Given the description of an element on the screen output the (x, y) to click on. 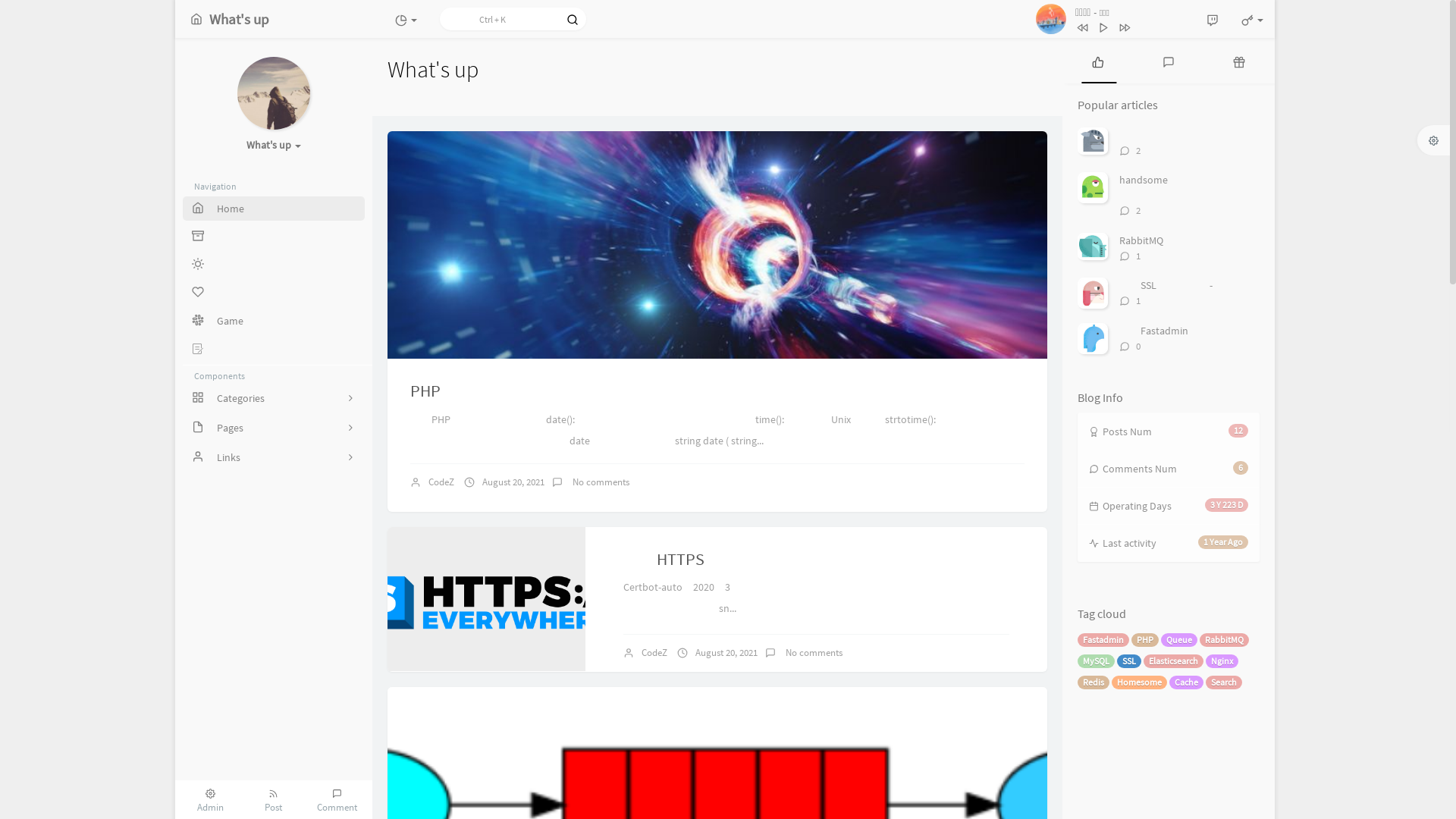
CodeZ Element type: text (654, 652)
Categories Element type: text (273, 397)
Elasticsearch Element type: text (1173, 661)
Home Element type: text (273, 208)
PHP Element type: text (1144, 639)
Fastadmin Element type: text (1103, 639)
Homesome Element type: text (1139, 682)
No comments Element type: text (812, 652)
Admin Element type: text (209, 798)
Random articles Element type: text (1239, 60)
MySQL Element type: text (1095, 661)
Search Element type: text (1223, 682)
Comment Element type: text (336, 798)
Popular articles Element type: text (1097, 60)
RabbitMQ Element type: text (1223, 639)
Latest comments Element type: text (1167, 60)
Post Element type: text (272, 798)
Pages Element type: text (273, 427)
Cache Element type: text (1186, 682)
What's up Element type: text (273, 140)
CodeZ Element type: text (441, 481)
Redis Element type: text (1093, 682)
Links Element type: text (273, 457)
Queue Element type: text (1179, 639)
What's up Element type: text (229, 18)
Game Element type: text (273, 320)
SSL Element type: text (1129, 661)
No comments Element type: text (599, 481)
Nginx Element type: text (1221, 661)
